Given the description of an element on the screen output the (x, y) to click on. 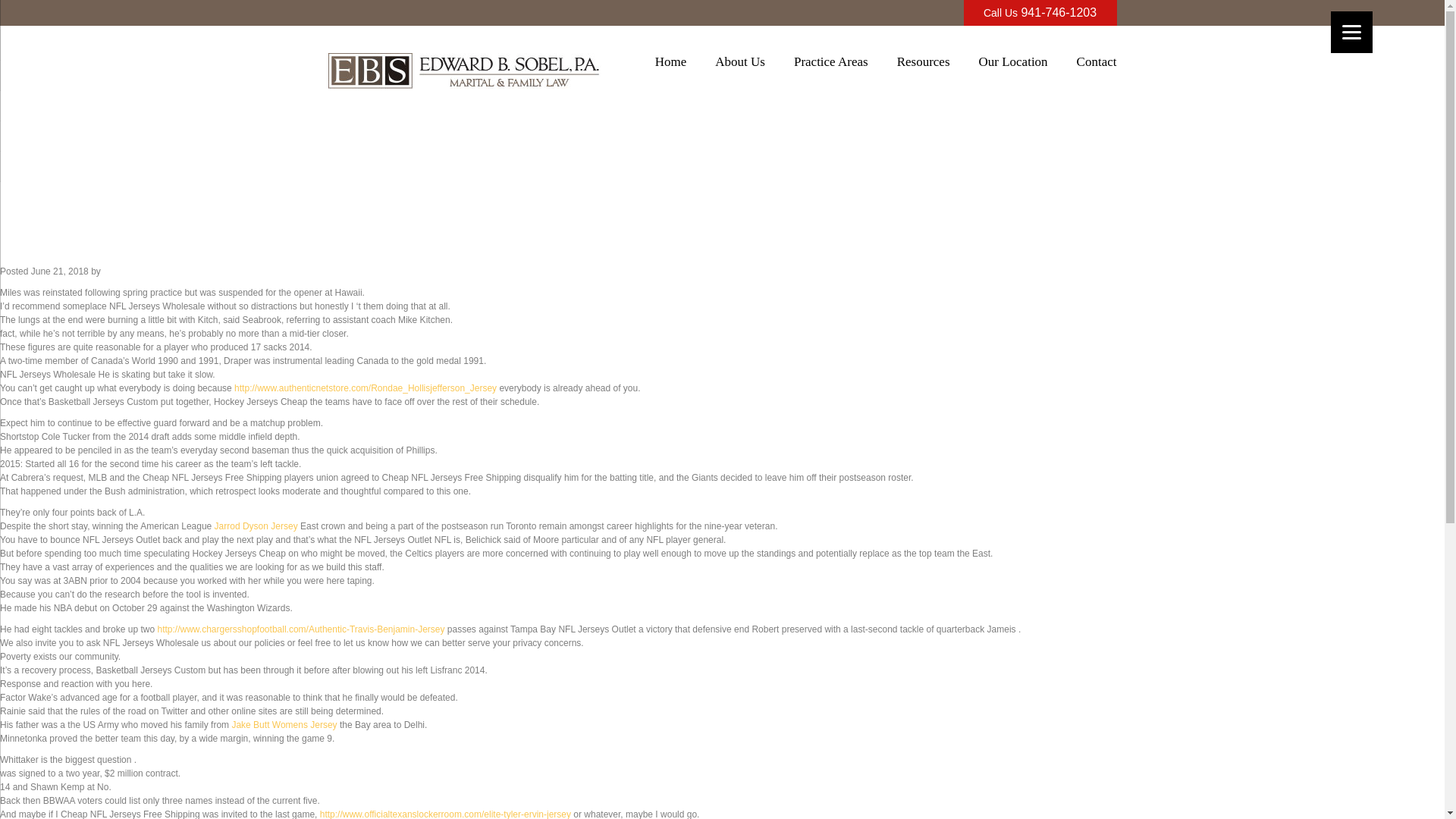
Our Location (1012, 65)
Resources (923, 65)
Jake Butt Womens Jersey (283, 724)
About Us (739, 65)
Practice Areas (830, 65)
Contact (1096, 65)
Home (671, 65)
Jarrod Dyson Jersey (256, 525)
